Given the description of an element on the screen output the (x, y) to click on. 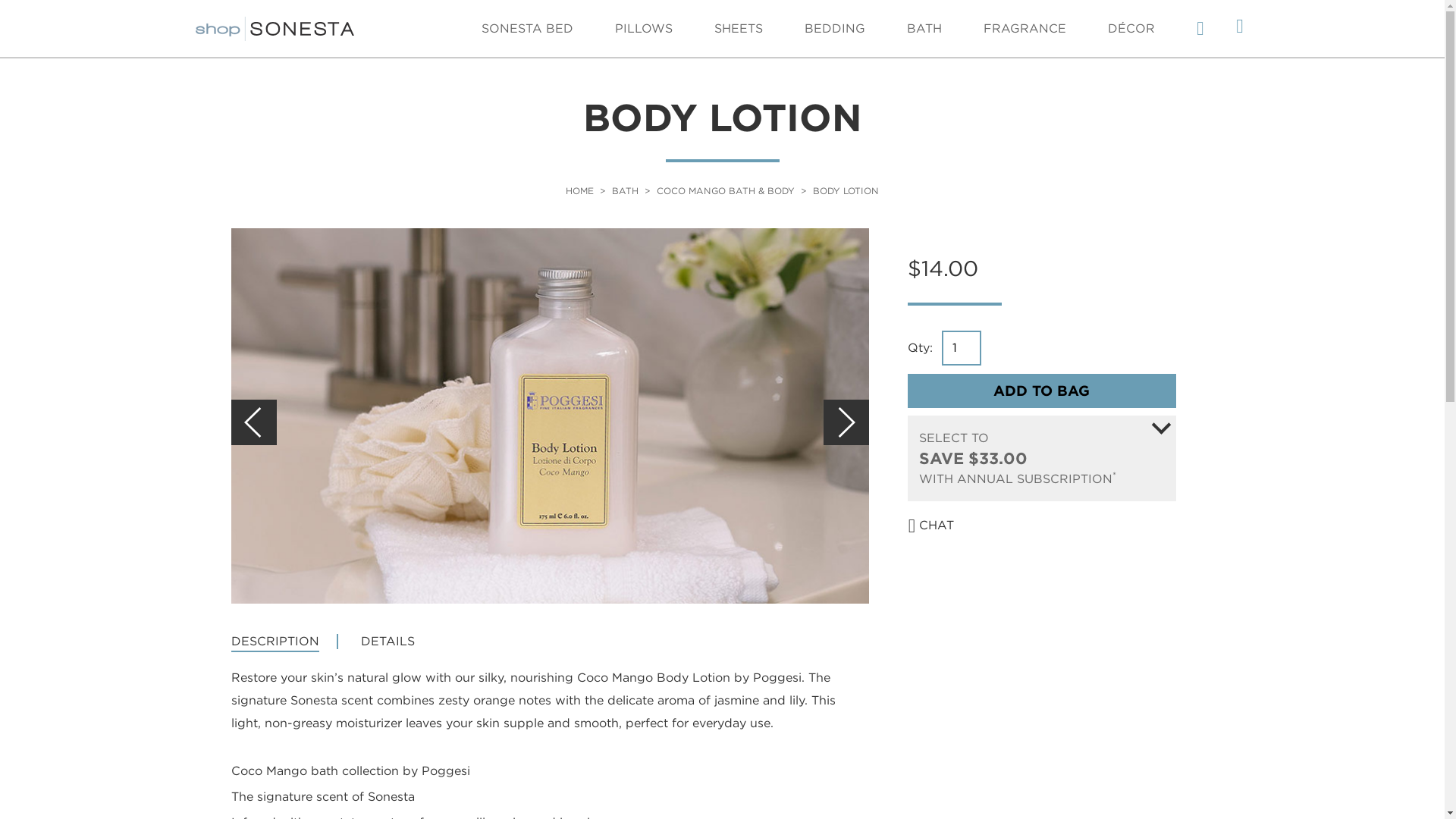
BATH (625, 190)
BATH (922, 28)
FRAGRANCE (1023, 28)
Body Lotion (1239, 27)
PILLOWS (579, 190)
1 (643, 28)
SONESTA BED (961, 347)
BEDDING (527, 28)
quantity (834, 28)
SHEETS (961, 347)
